Given the description of an element on the screen output the (x, y) to click on. 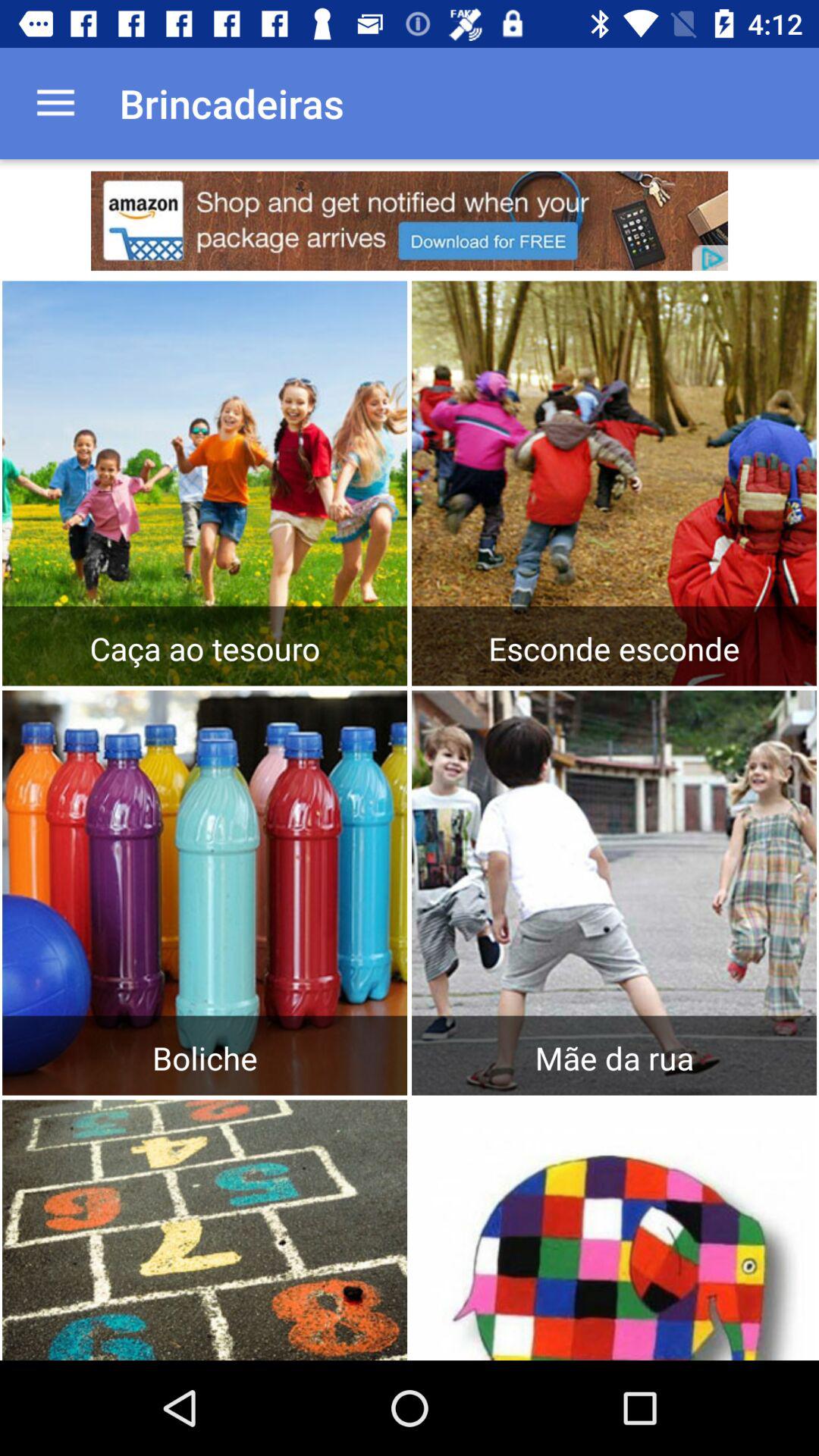
advertisement (409, 220)
